Given the description of an element on the screen output the (x, y) to click on. 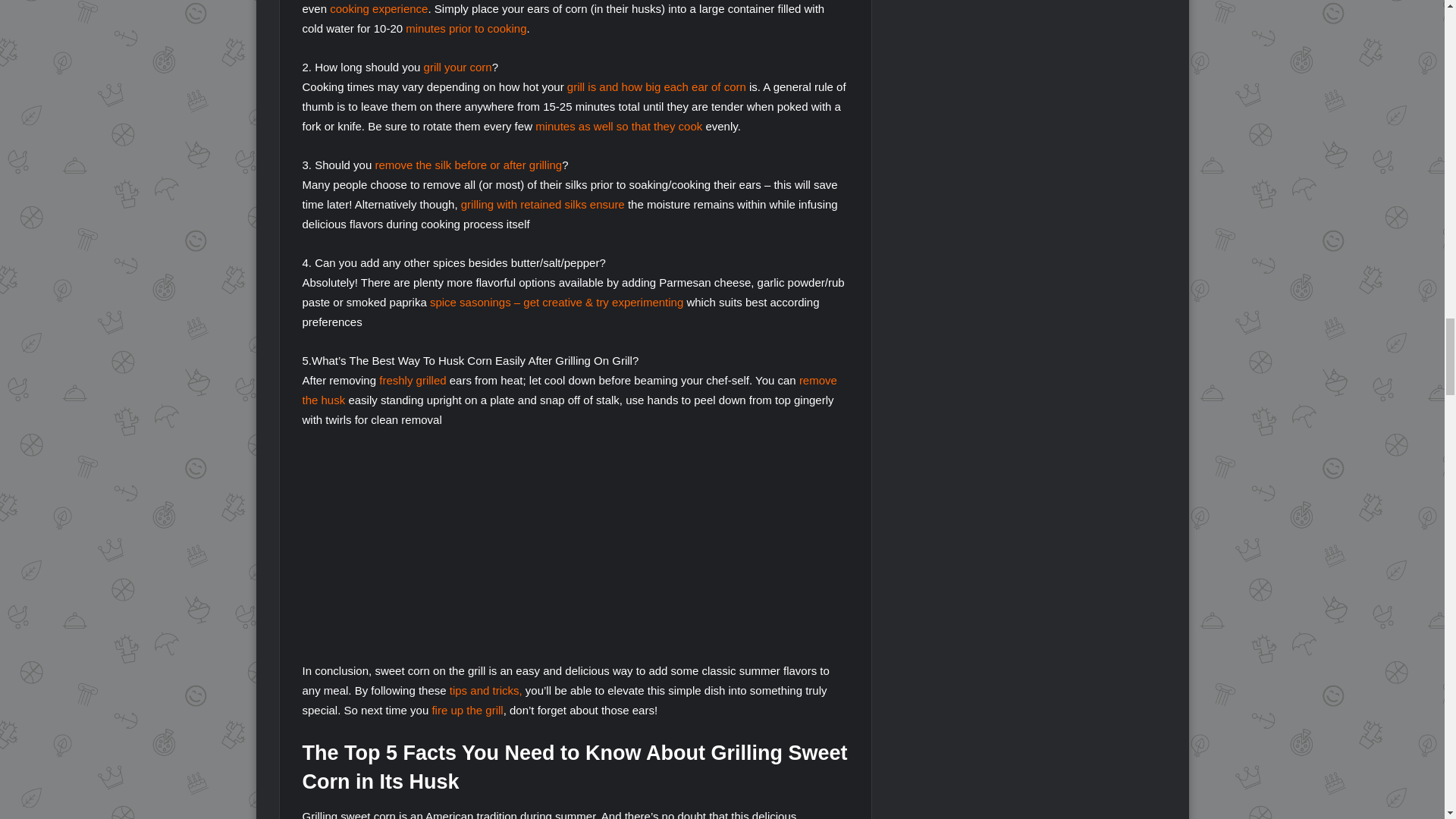
grill is and how big each ear of corn (656, 86)
cooking experience (379, 8)
grill your corn (457, 66)
grilling with retained silks ensure (542, 204)
minutes prior to cooking (465, 28)
remove the silk before or after grilling (468, 164)
minutes as well so that they cook (618, 125)
